Given the description of an element on the screen output the (x, y) to click on. 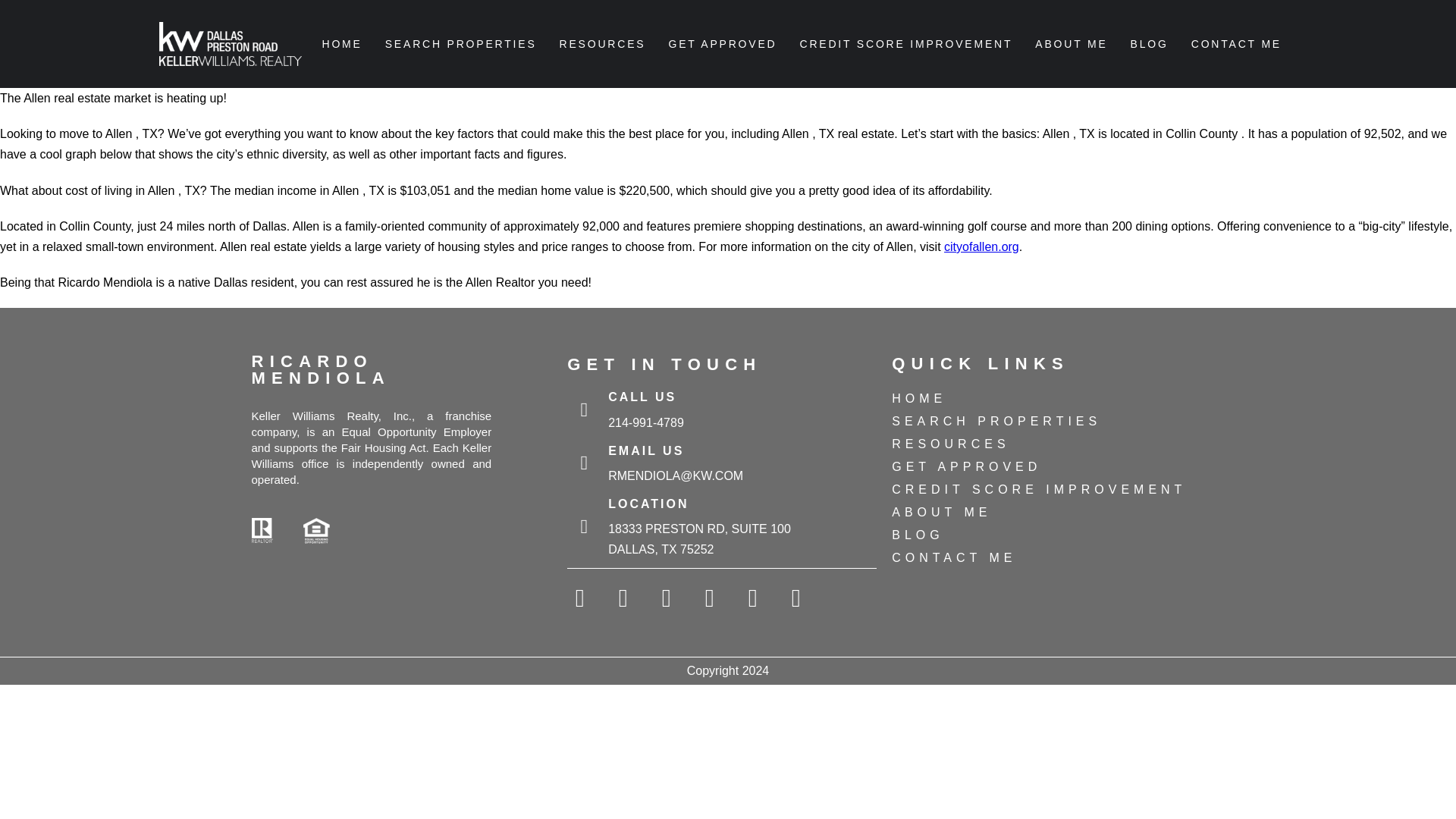
ABOUT ME (1071, 44)
HOME (341, 44)
RESOURCES (602, 44)
GET APPROVED (722, 44)
CREDIT SCORE IMPROVEMENT (1046, 489)
SEARCH PROPERTIES (460, 44)
cityofallen.org (981, 246)
BLOG (1149, 44)
SEARCH PROPERTIES (1046, 421)
GET APPROVED (1046, 466)
